Given the description of an element on the screen output the (x, y) to click on. 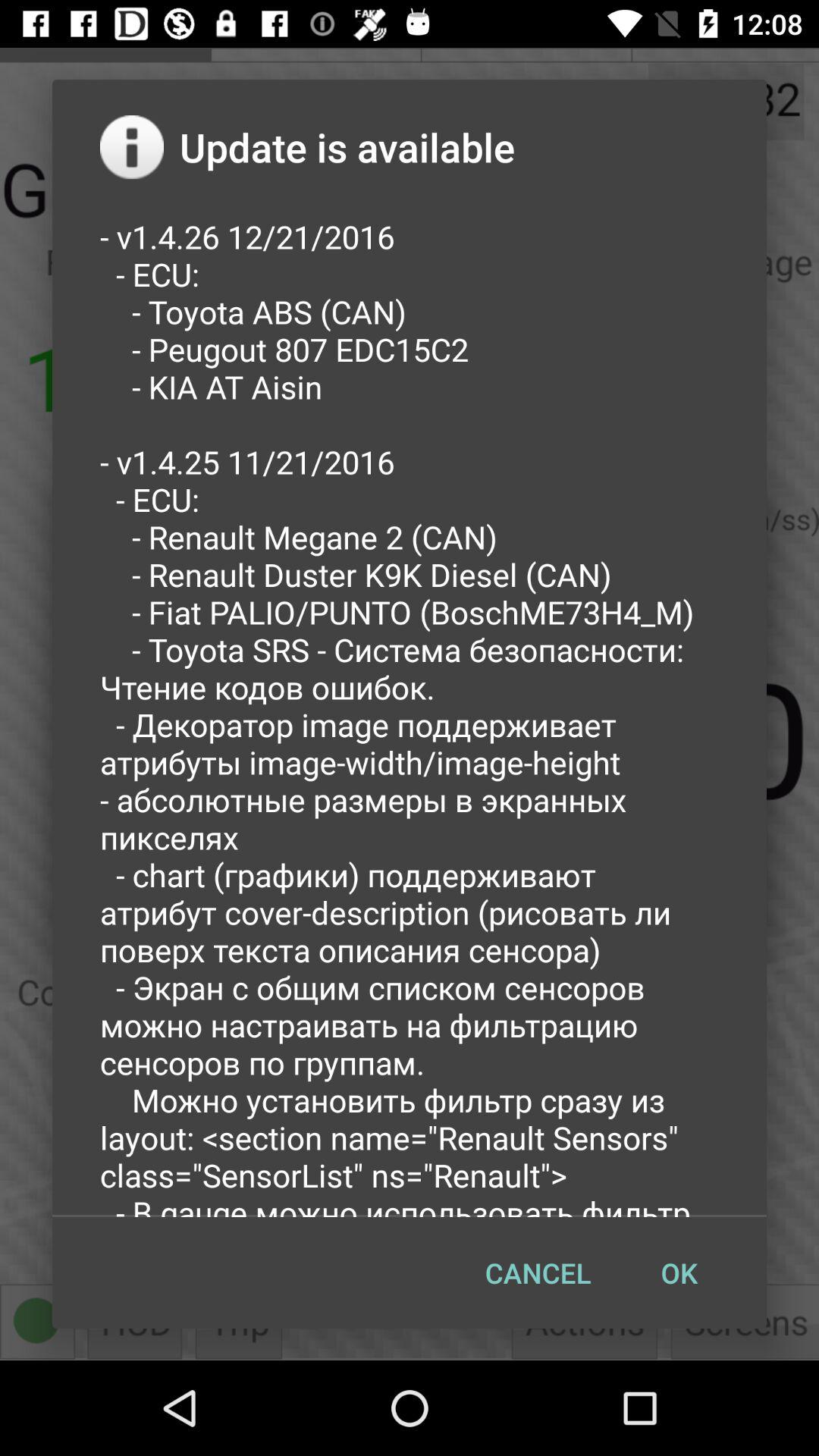
turn on button next to the cancel button (678, 1272)
